Given the description of an element on the screen output the (x, y) to click on. 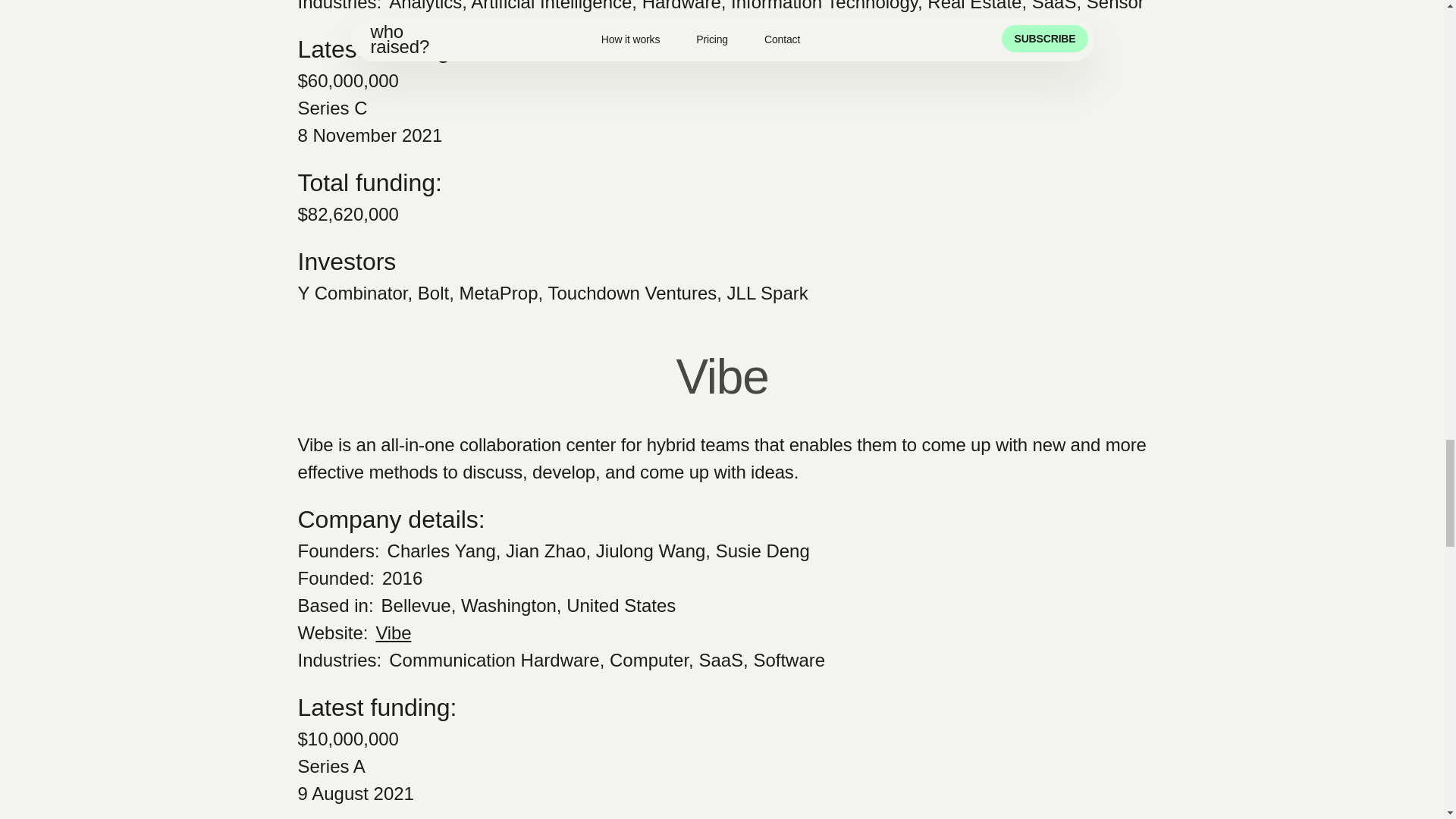
Vibe (392, 633)
